Given the description of an element on the screen output the (x, y) to click on. 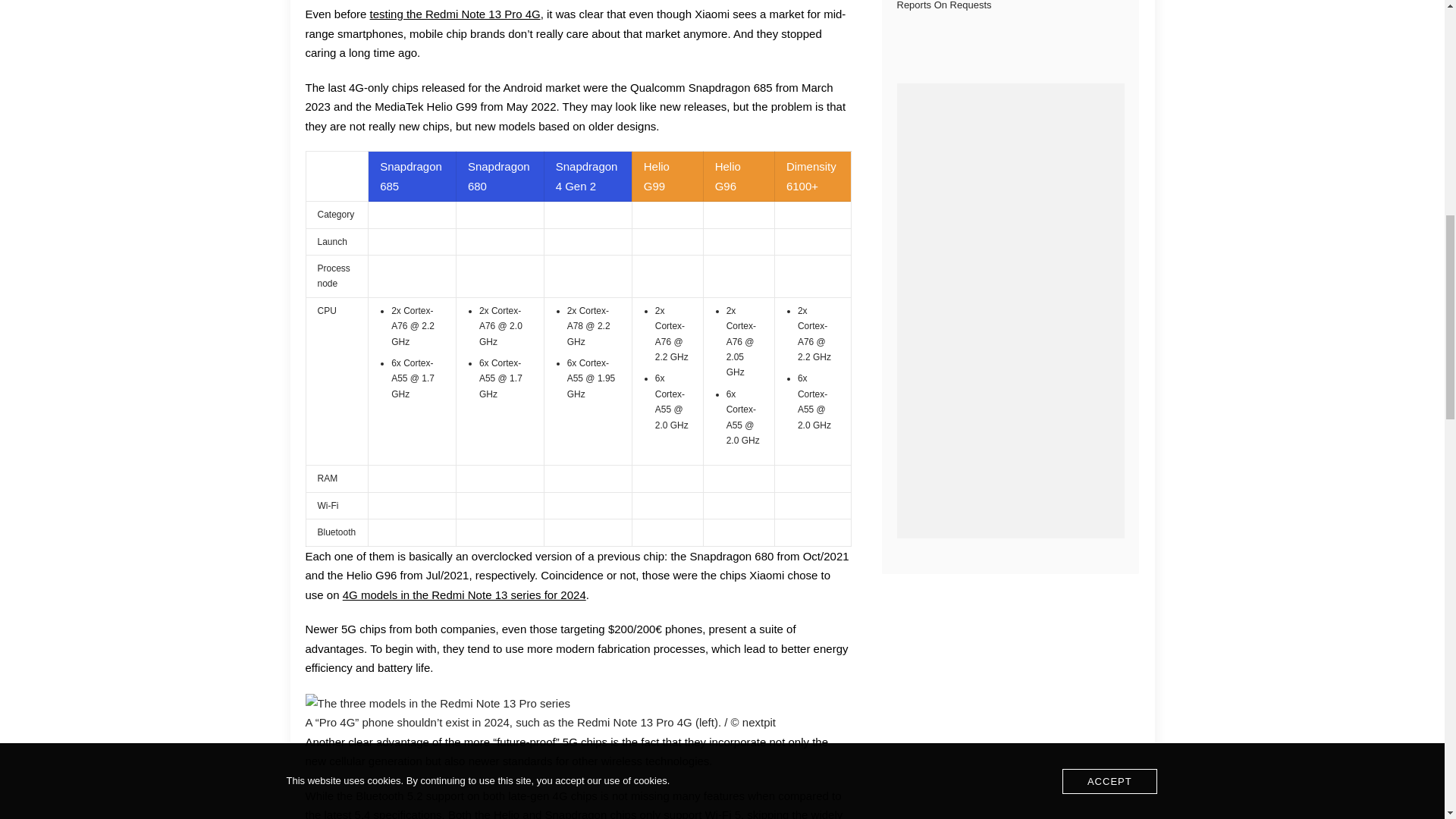
testing the Redmi Note 13 Pro 4G (454, 13)
The three models in the Redmi Note 13 Pro series (437, 703)
